Given the description of an element on the screen output the (x, y) to click on. 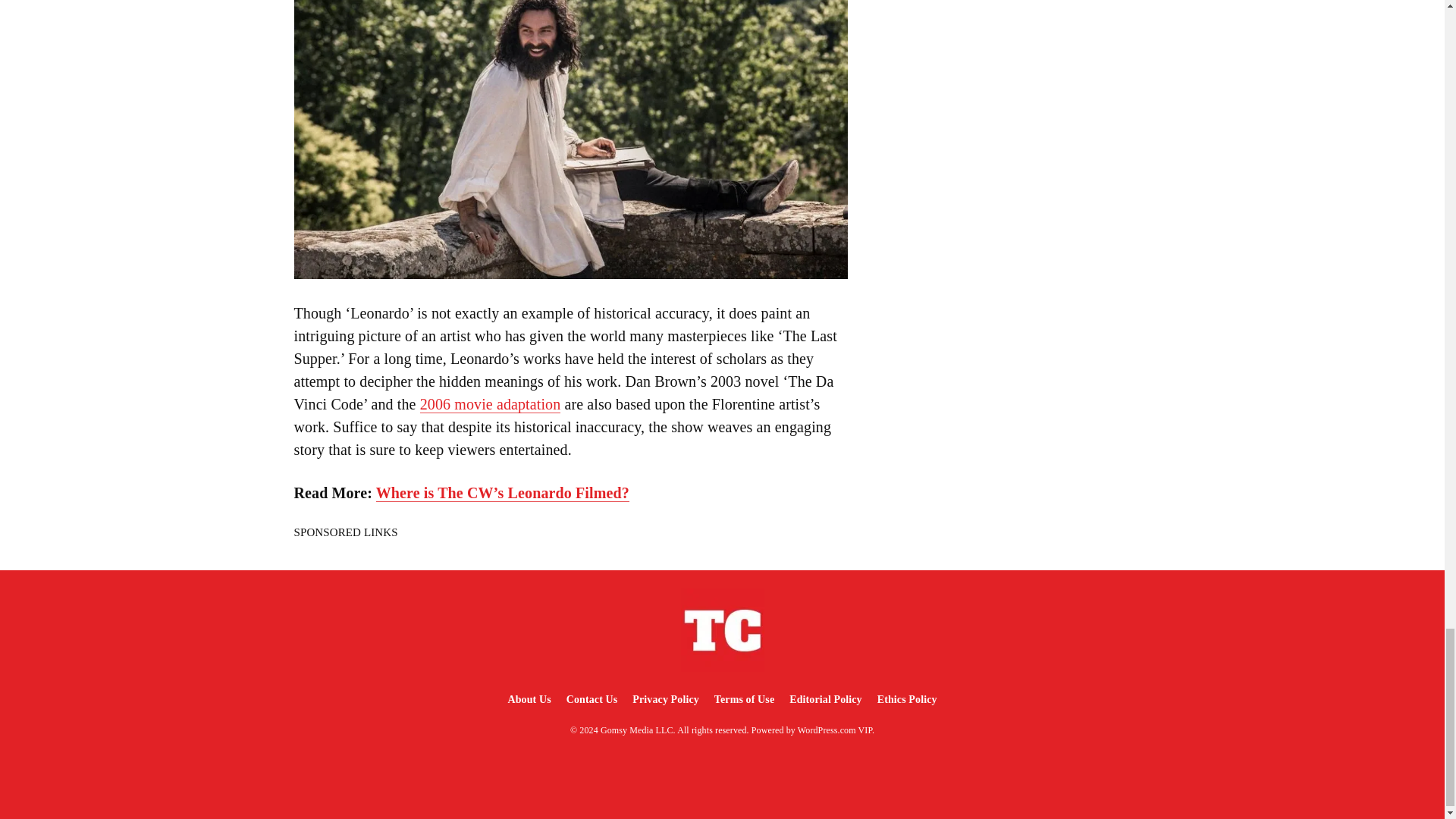
Ethics Policy (906, 699)
WordPress.com VIP (834, 729)
Editorial Policy (825, 699)
About Us (528, 699)
Contact Us (592, 699)
2006 movie adaptation (490, 404)
Privacy Policy (665, 699)
Terms of Use (743, 699)
